Given the description of an element on the screen output the (x, y) to click on. 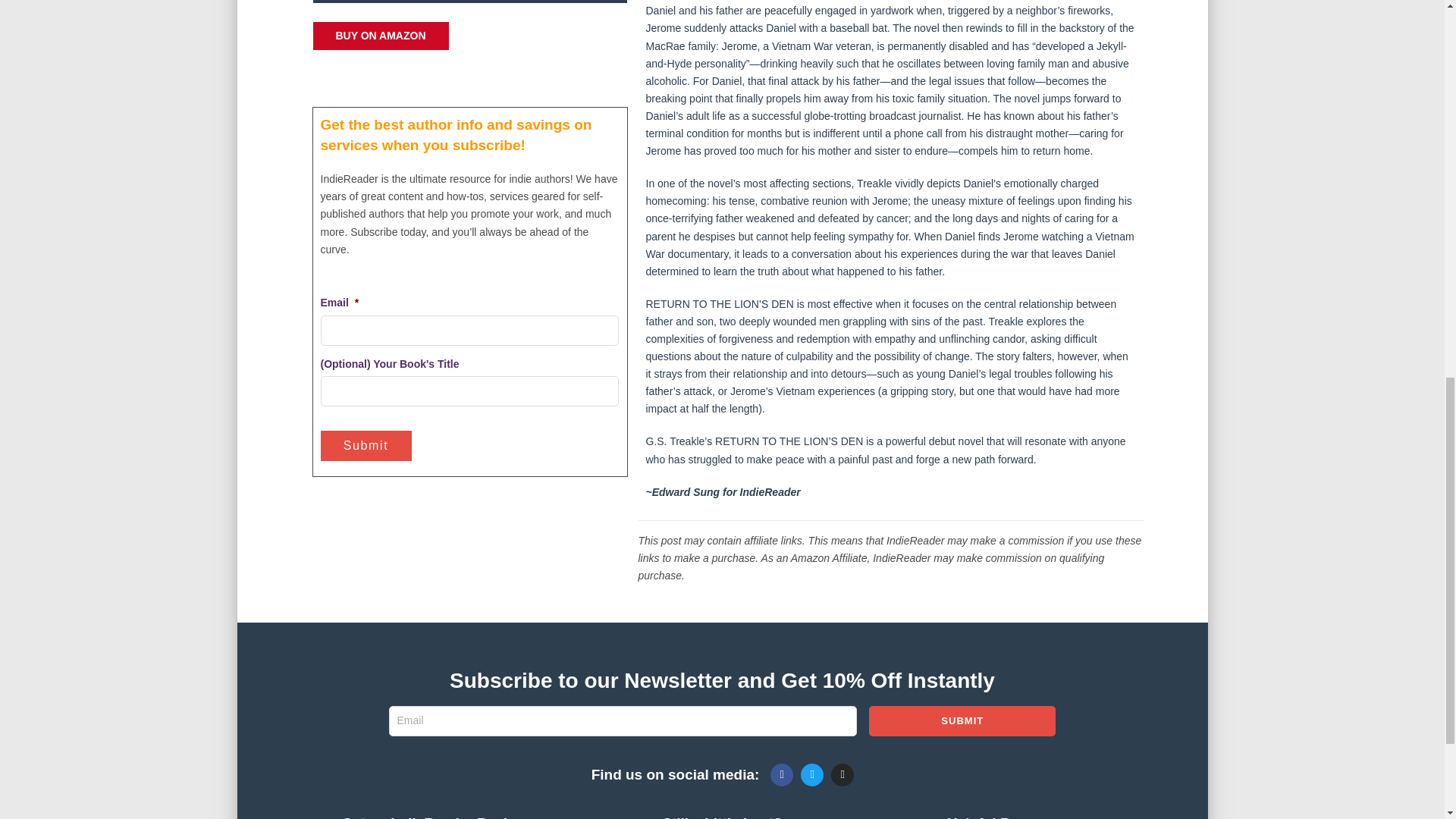
Submit (365, 445)
Submit (365, 445)
Submit (962, 720)
Submit (962, 720)
BUY ON AMAZON (380, 35)
